Given the description of an element on the screen output the (x, y) to click on. 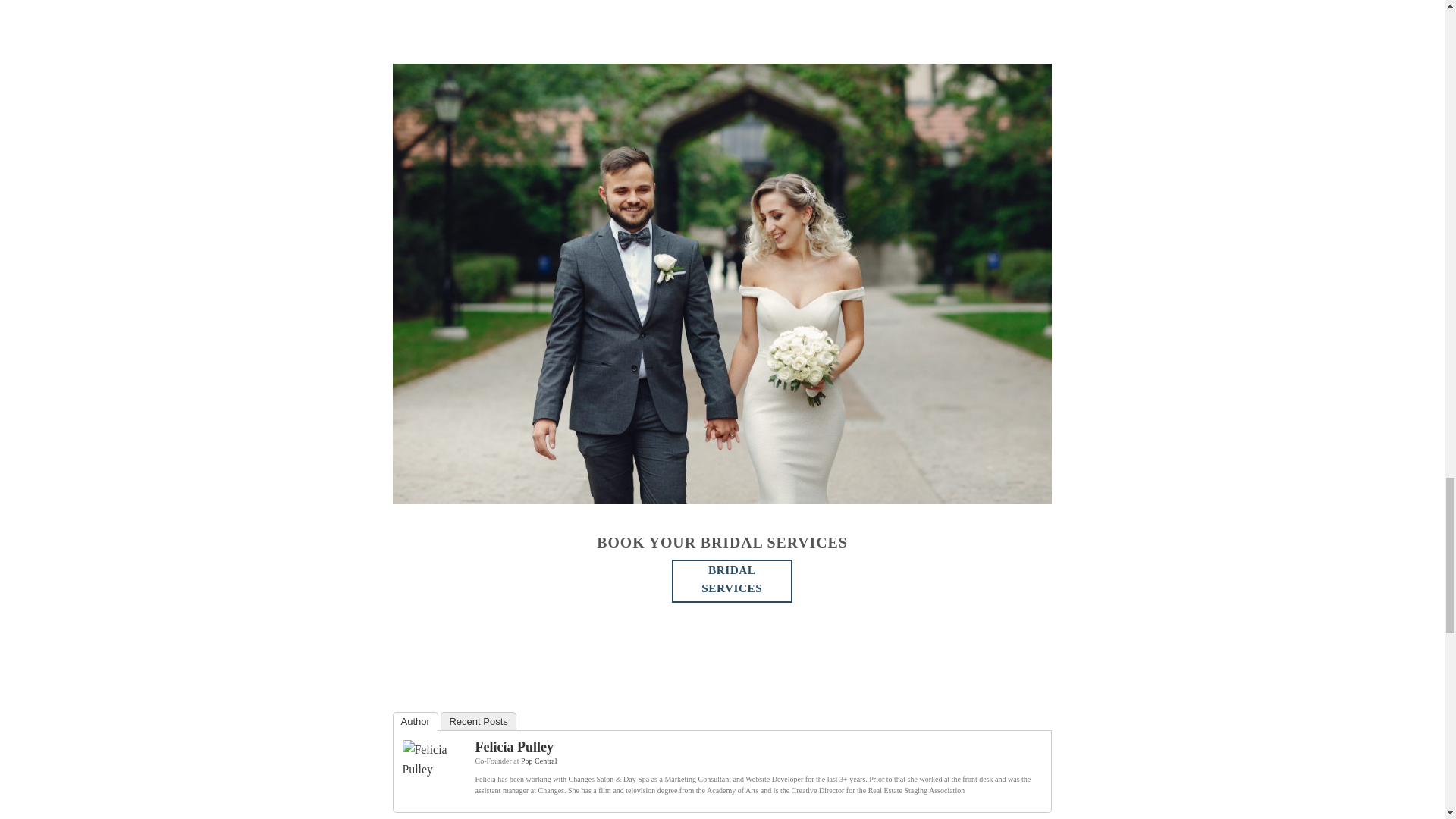
Felicia Pulley (432, 768)
